Given the description of an element on the screen output the (x, y) to click on. 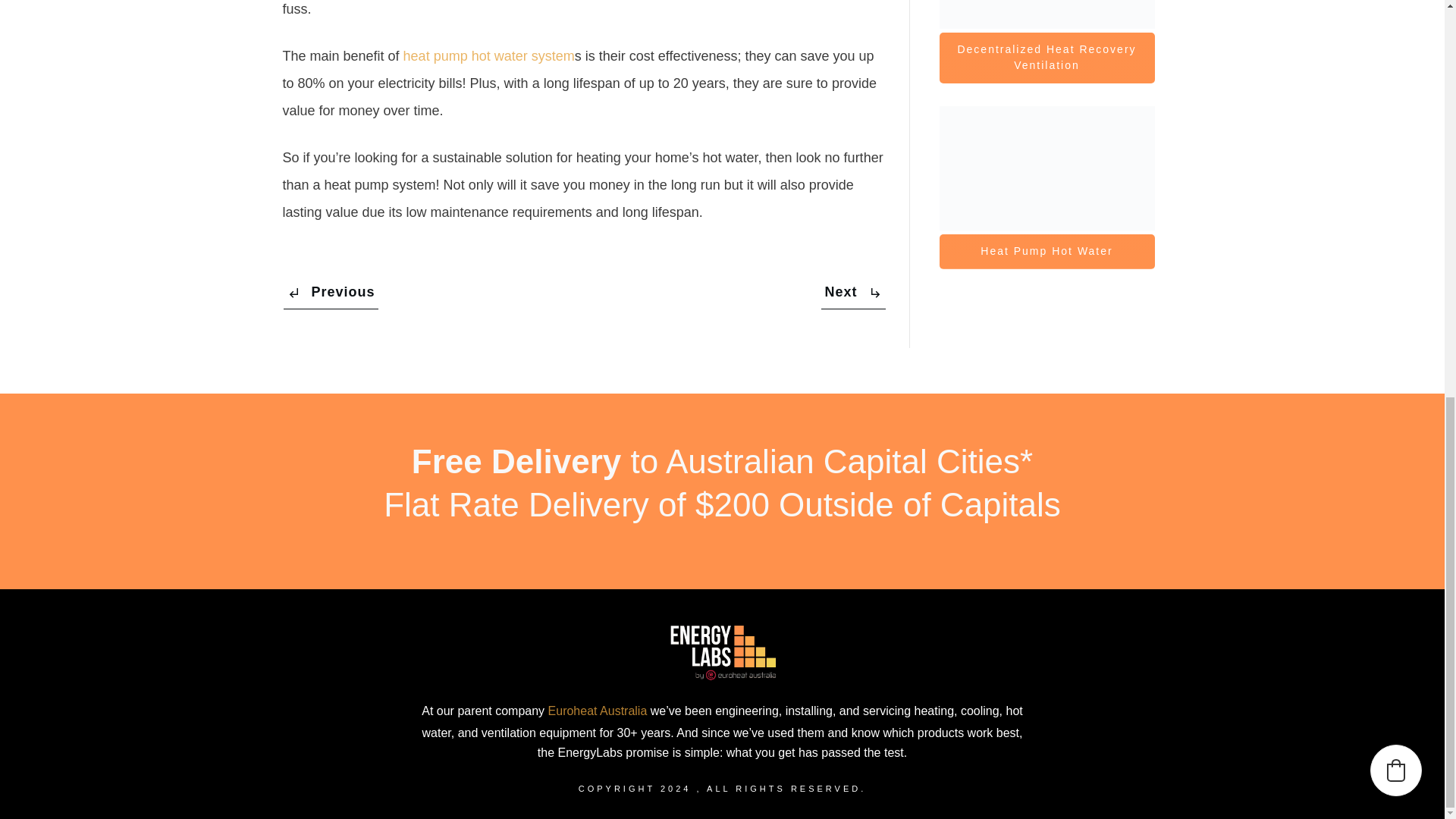
Decentralized Heat Recovery Ventilation (1046, 57)
Previous (330, 292)
energylabs-1987956286 (1046, 14)
Euroheat Australia (597, 710)
Next (853, 292)
wwk-heat-pump-2 (1046, 168)
heat pump hot water system (489, 55)
Heat Pump Hot Water (1046, 251)
